Given the description of an element on the screen output the (x, y) to click on. 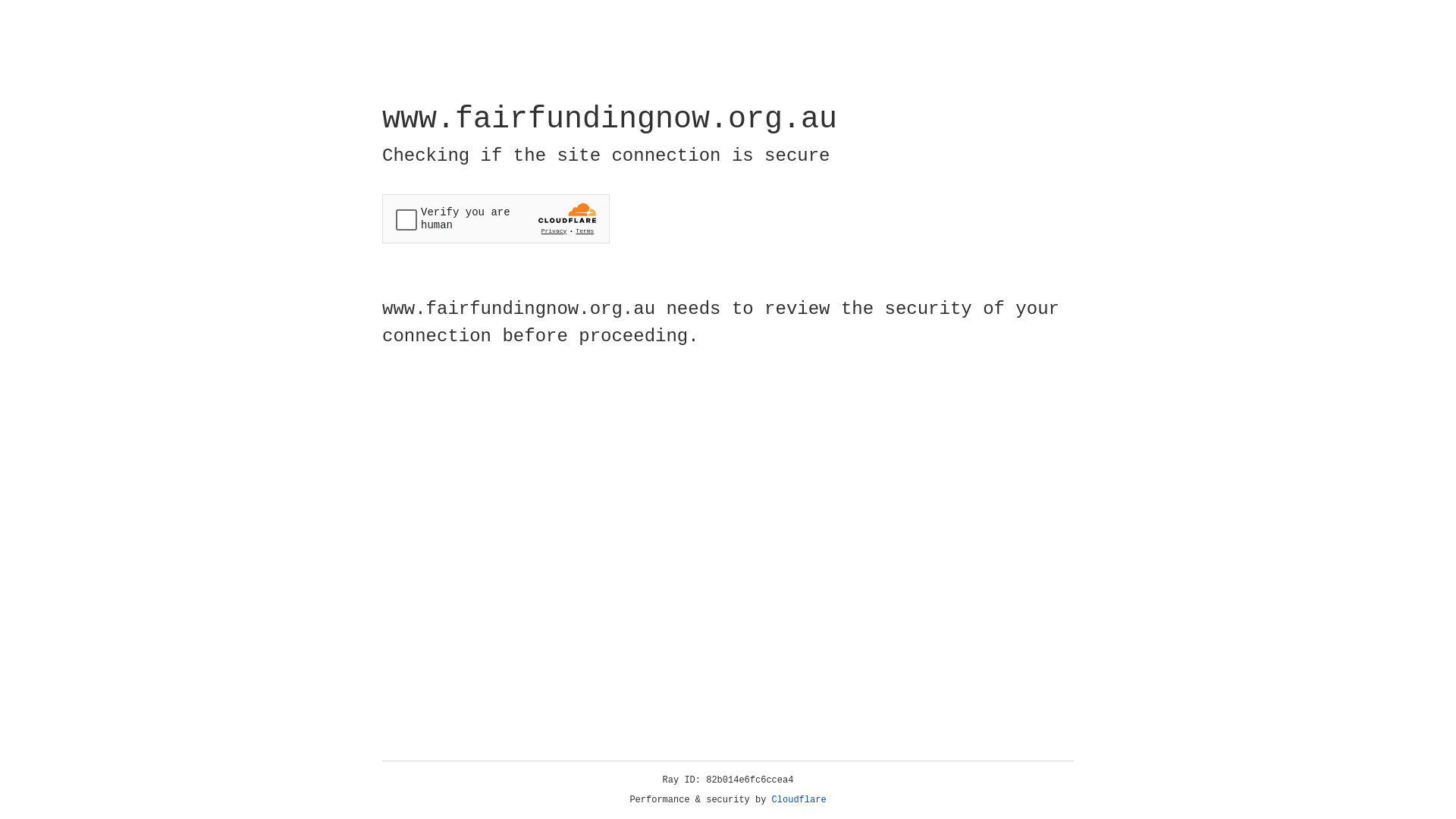
Cloudflare Element type: text (798, 799)
Widget containing a Cloudflare security challenge Element type: hover (495, 218)
